Given the description of an element on the screen output the (x, y) to click on. 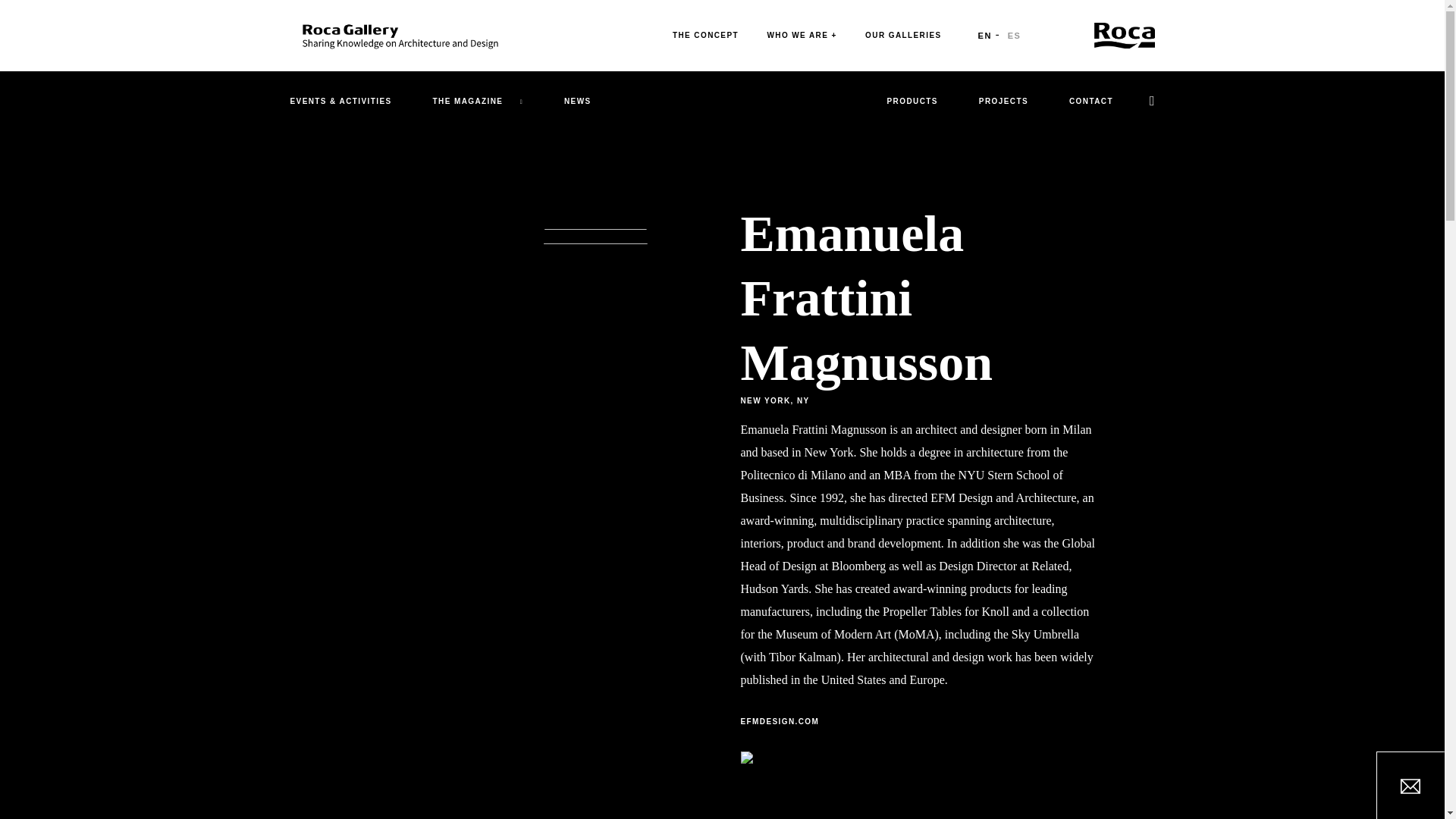
THE CONCEPT (705, 35)
EN (984, 35)
OUR GALLERIES (902, 35)
ES (1014, 35)
THE MAGAZINE (477, 101)
